Given the description of an element on the screen output the (x, y) to click on. 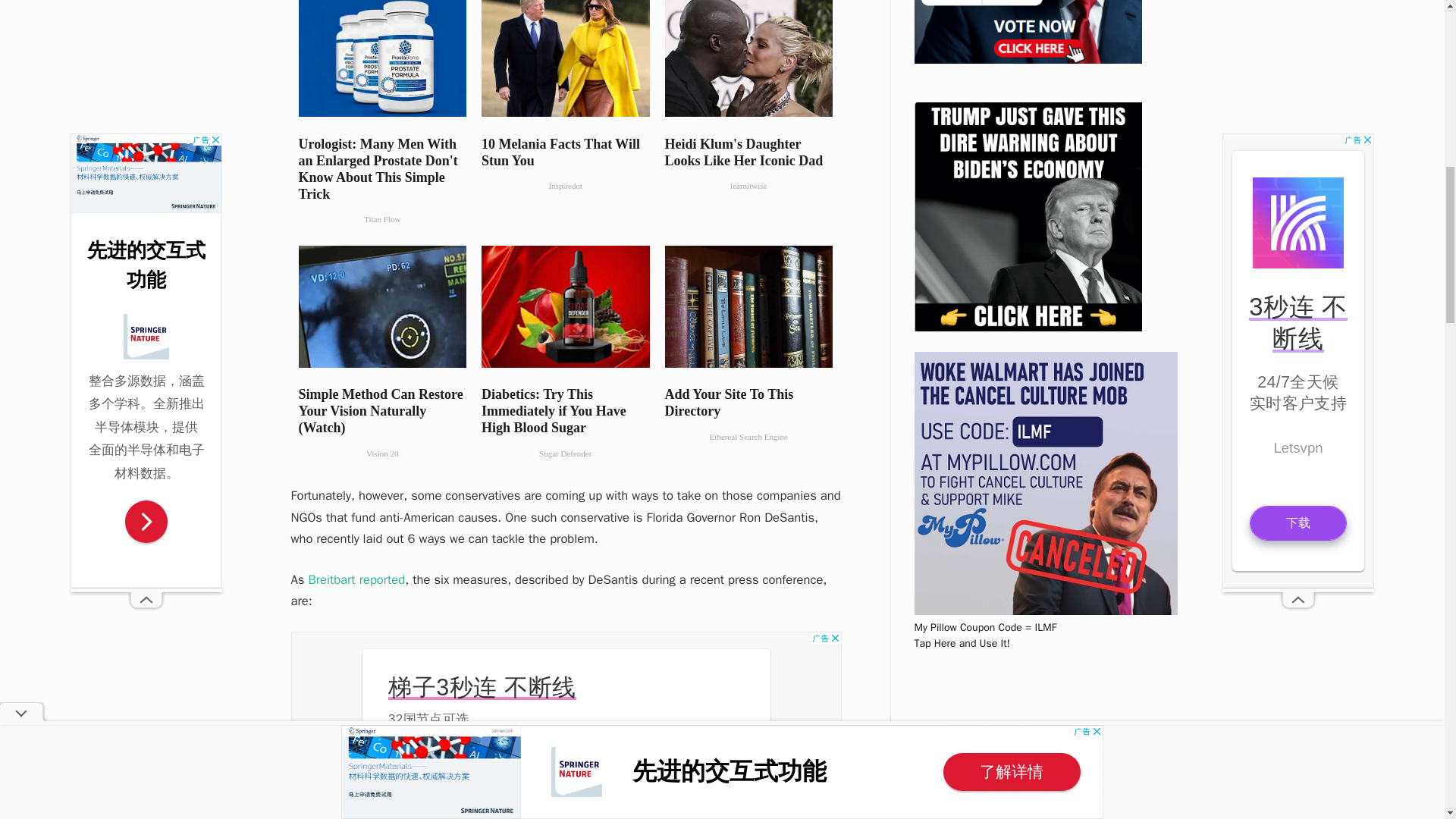
Breitbart reported (355, 579)
Advertisement (566, 725)
